Given the description of an element on the screen output the (x, y) to click on. 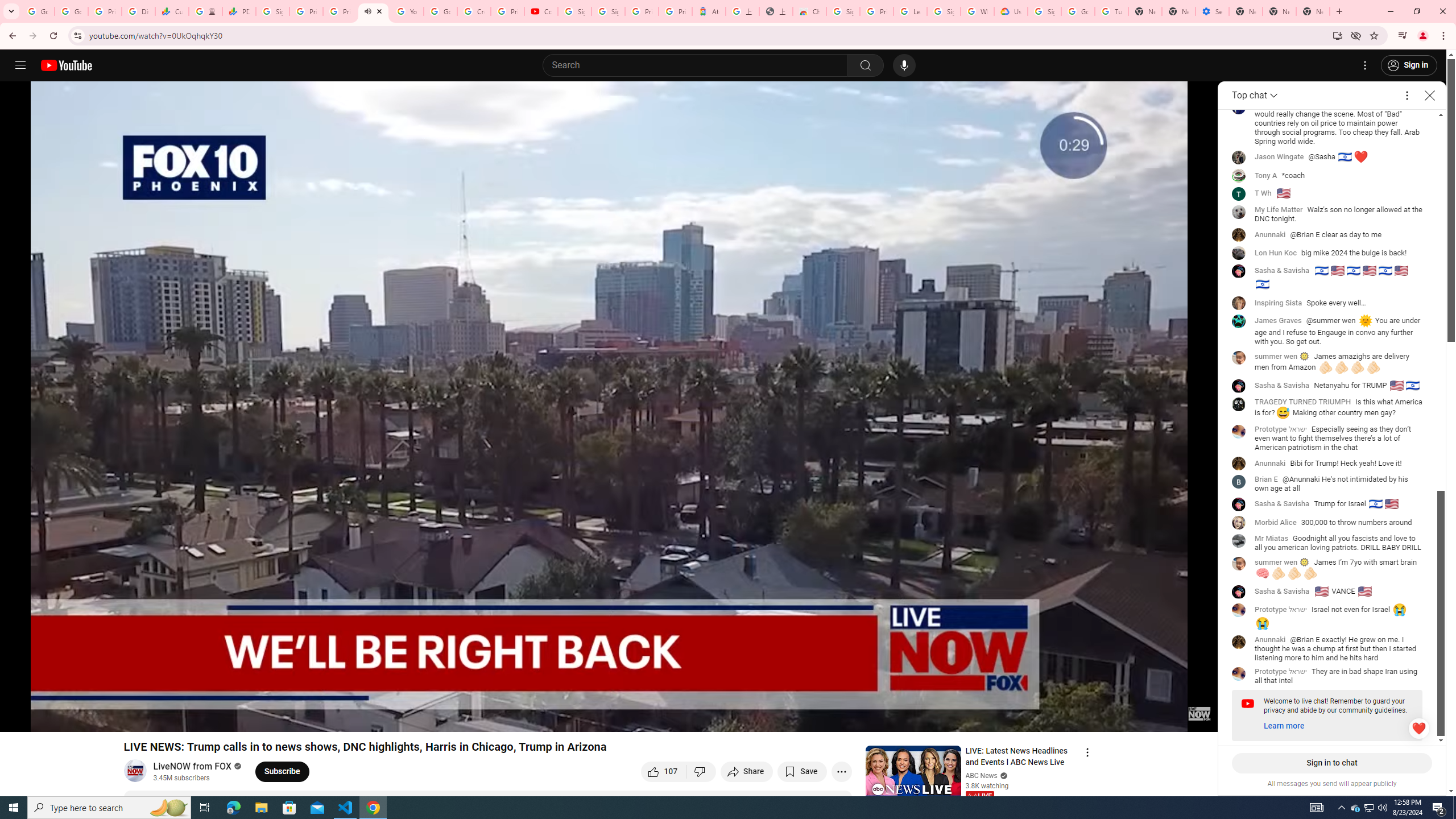
Currencies - Google Finance (171, 11)
Google Account Help (1077, 11)
Subscribe to LiveNOW from FOX. (281, 771)
New Tab (1246, 11)
Theater mode keyboard shortcut t (1169, 718)
Sign in to chat (1331, 762)
